Given the description of an element on the screen output the (x, y) to click on. 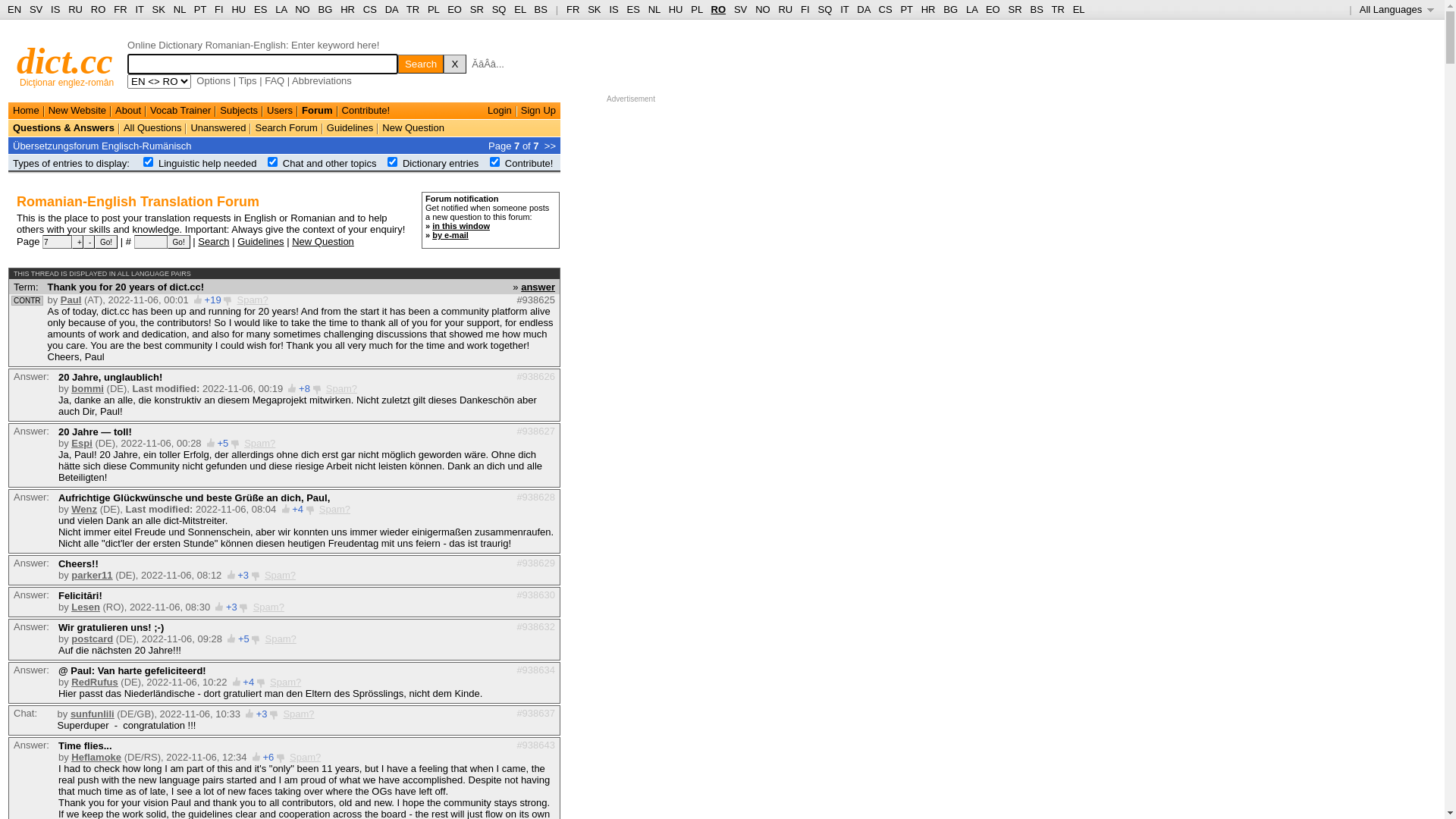
PT Element type: text (200, 9)
HU Element type: text (238, 9)
Contribute! Element type: text (529, 163)
Wenz Element type: text (84, 508)
HR Element type: text (347, 9)
#938628 Element type: text (535, 496)
X Element type: text (454, 63)
New Question Element type: text (322, 240)
#938634 Element type: text (535, 669)
BS Element type: text (540, 9)
Paul Element type: text (70, 299)
SR Element type: text (476, 9)
NL Element type: text (654, 9)
NL Element type: text (179, 9)
Options Element type: text (213, 80)
dict.cc Element type: text (64, 60)
Linguistic help needed Element type: text (207, 163)
#938630 Element type: text (535, 593)
NO Element type: text (762, 9)
All Languages  Element type: text (1396, 9)
Go! Element type: text (178, 241)
Search Forum Element type: text (285, 127)
Sign Up Element type: text (537, 110)
#938625 Element type: text (535, 299)
Dictionary entries Element type: text (440, 163)
EL Element type: text (519, 9)
RU Element type: text (785, 9)
#938627 Element type: text (535, 430)
New Website Element type: text (77, 110)
Chat and other topics Element type: text (329, 163)
CS Element type: text (369, 9)
EO Element type: text (992, 9)
Spam? Element type: text (280, 638)
Vocab Trainer Element type: text (180, 110)
Abbreviations Element type: text (321, 80)
Espi Element type: text (81, 442)
FI Element type: text (218, 9)
Spam? Element type: text (285, 681)
Guidelines Element type: text (260, 240)
+6 Element type: text (267, 756)
HU Element type: text (675, 9)
About Element type: text (128, 110)
Guidelines Element type: text (349, 127)
#938637 Element type: text (535, 712)
LA Element type: text (971, 9)
Contribute! Element type: text (366, 110)
#938626 Element type: text (535, 375)
Spam? Element type: text (334, 508)
#938632 Element type: text (535, 625)
Spam? Element type: text (279, 574)
NO Element type: text (302, 9)
SV Element type: text (740, 9)
FR Element type: text (572, 9)
+4 Element type: text (297, 508)
SQ Element type: text (499, 9)
on Element type: text (272, 161)
Subjects Element type: text (238, 110)
HR Element type: text (928, 9)
PT Element type: text (906, 9)
DA Element type: text (391, 9)
BG Element type: text (325, 9)
PL Element type: text (696, 9)
Users Element type: text (279, 110)
Tips Element type: text (247, 80)
Lesen Element type: text (85, 606)
IS Element type: text (613, 9)
EL Element type: text (1079, 9)
SK Element type: text (158, 9)
#938629 Element type: text (535, 561)
FAQ Element type: text (274, 80)
ES Element type: text (260, 9)
Questions & Answers Element type: text (63, 127)
DA Element type: text (862, 9)
SK Element type: text (593, 9)
Search Element type: text (420, 63)
EN Element type: text (14, 9)
on Element type: text (392, 161)
ES Element type: text (633, 9)
+19 Element type: text (212, 299)
postcard Element type: text (91, 638)
Search Element type: text (213, 240)
PL Element type: text (433, 9)
answer Element type: text (537, 285)
SV Element type: text (35, 9)
BG Element type: text (950, 9)
SQ Element type: text (824, 9)
Heflamoke Element type: text (96, 756)
Go! Element type: text (105, 241)
New Question Element type: text (413, 127)
BS Element type: text (1035, 9)
RO Element type: text (718, 9)
LA Element type: text (280, 9)
TR Element type: text (412, 9)
#938643 Element type: text (535, 743)
All Questions Element type: text (152, 127)
Romanian-English Translation Forum Element type: text (137, 201)
CONTR Element type: text (26, 300)
>> Element type: text (549, 144)
RU Element type: text (75, 9)
CS Element type: text (884, 9)
Spam? Element type: text (251, 299)
Spam? Element type: text (259, 442)
Spam? Element type: text (297, 713)
SR Element type: text (1015, 9)
Spam? Element type: text (341, 388)
EO Element type: text (454, 9)
Spam? Element type: text (268, 606)
+8 Element type: text (304, 388)
+3 Element type: text (231, 606)
Spam? Element type: text (304, 756)
on Element type: text (148, 161)
Home Element type: text (25, 110)
sunfunlili Element type: text (92, 713)
IS Element type: text (54, 9)
bommi Element type: text (87, 388)
IT Element type: text (844, 9)
+3 Element type: text (242, 574)
+3 Element type: text (261, 713)
TR Element type: text (1057, 9)
Login Element type: text (499, 110)
FR Element type: text (119, 9)
parker11 Element type: text (91, 574)
FI Element type: text (804, 9)
RO Element type: text (98, 9)
+4 Element type: text (248, 681)
IT Element type: text (138, 9)
Forum Element type: text (316, 110)
RedRufus Element type: text (94, 681)
on Element type: text (494, 161)
Unanswered Element type: text (217, 127)
+5 Element type: text (243, 638)
+5 Element type: text (222, 442)
